Given the description of an element on the screen output the (x, y) to click on. 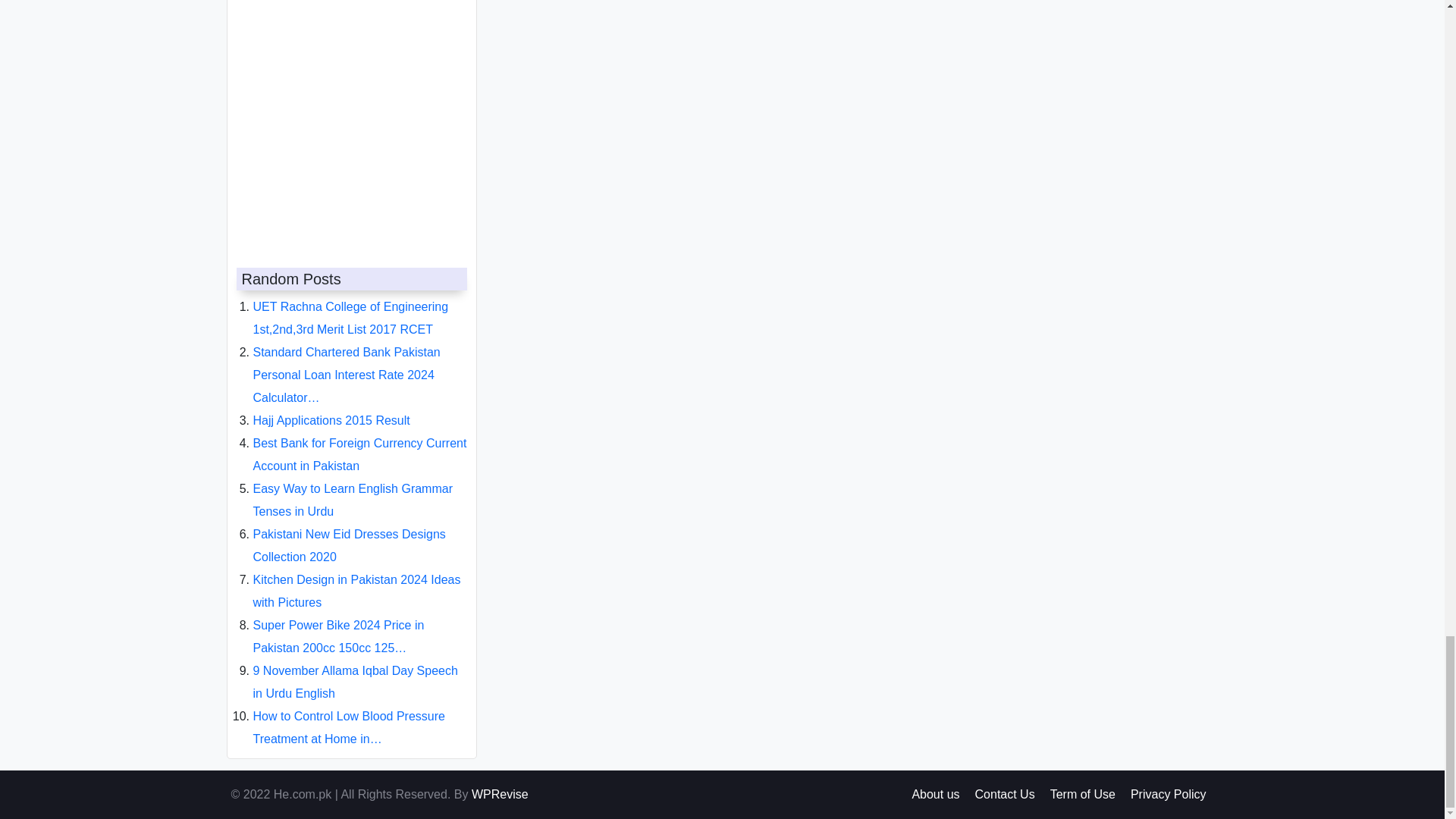
Best Bank for Foreign Currency Current Account in Pakistan (360, 442)
Kitchen Design in Pakistan 2024 Ideas with Pictures (357, 579)
Advertisement (346, 118)
Hajj Applications 2015 Result (331, 408)
Pakistani New Eid Dresses Designs Collection 2020 (349, 533)
Easy Way to Learn English Grammar Tenses in Urdu (352, 488)
